Given the description of an element on the screen output the (x, y) to click on. 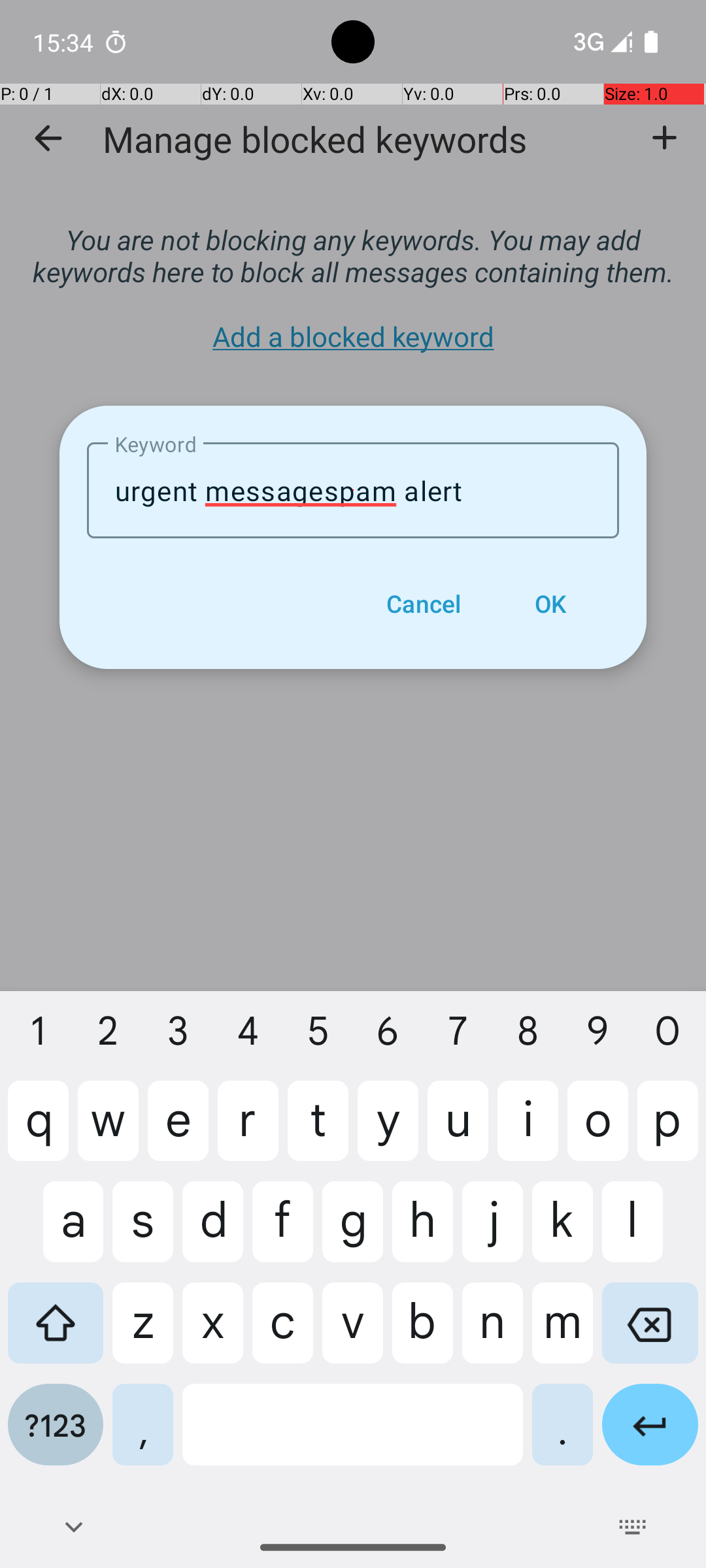
urgent messagespam alert Element type: android.widget.EditText (352, 490)
